Given the description of an element on the screen output the (x, y) to click on. 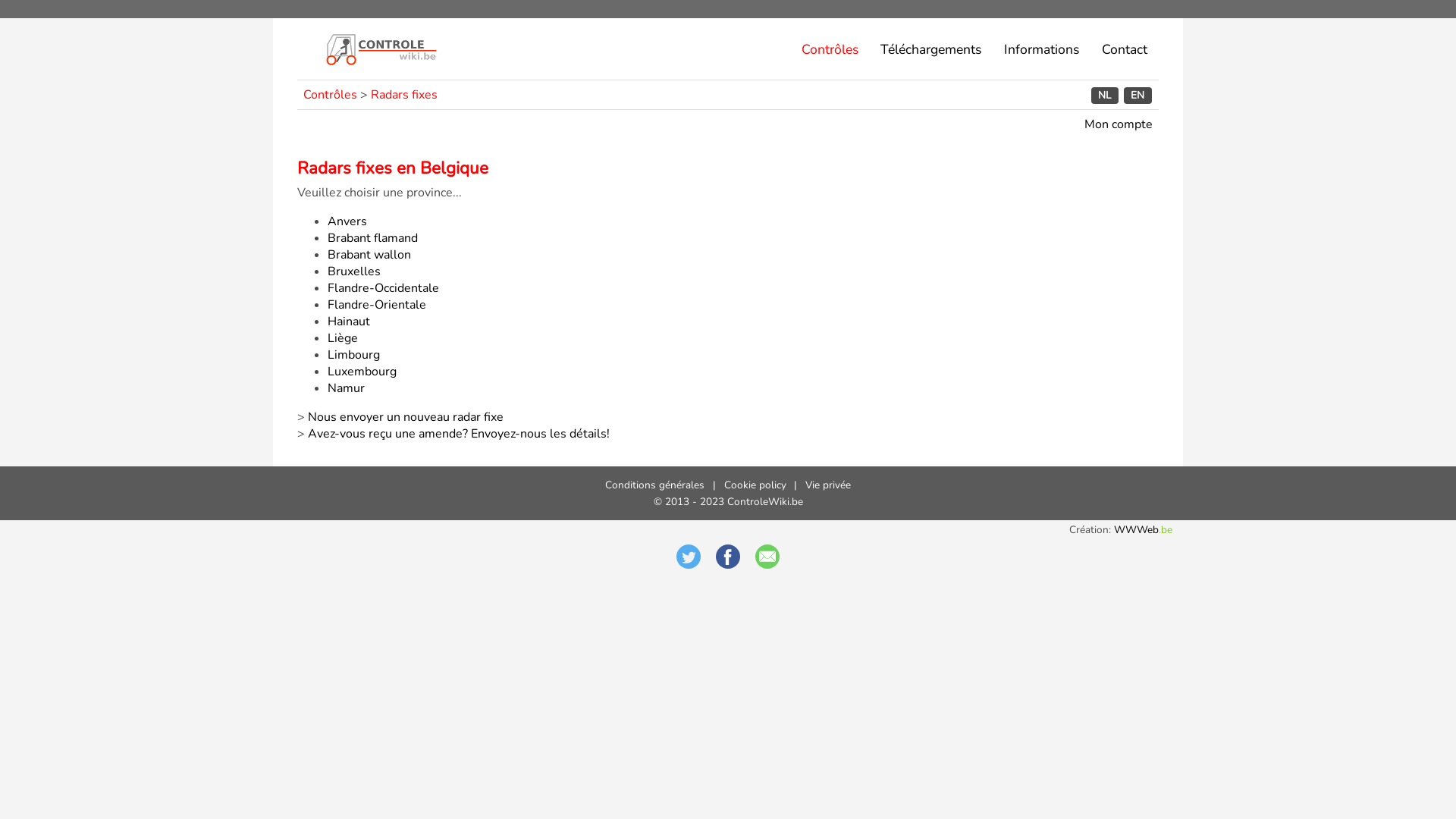
Radars fixes Element type: text (403, 94)
Limbourg Element type: text (353, 354)
Namur Element type: text (345, 387)
Informations Element type: text (1041, 49)
Brabant wallon Element type: text (369, 254)
Bruxelles Element type: text (353, 271)
Nous envoyer un nouveau radar fixe Element type: text (405, 416)
Anvers Element type: text (347, 221)
Brabant flamand Element type: text (372, 237)
Hainaut Element type: text (348, 321)
Mon compte Element type: text (1118, 124)
Contact Element type: text (1123, 49)
NL Element type: text (1104, 95)
Flandre-Occidentale Element type: text (383, 287)
Luxembourg Element type: text (361, 371)
Cookie policy Element type: text (754, 484)
Flandre-Orientale Element type: text (376, 304)
EN Element type: text (1137, 95)
WWWeb.be Element type: text (1142, 529)
